Given the description of an element on the screen output the (x, y) to click on. 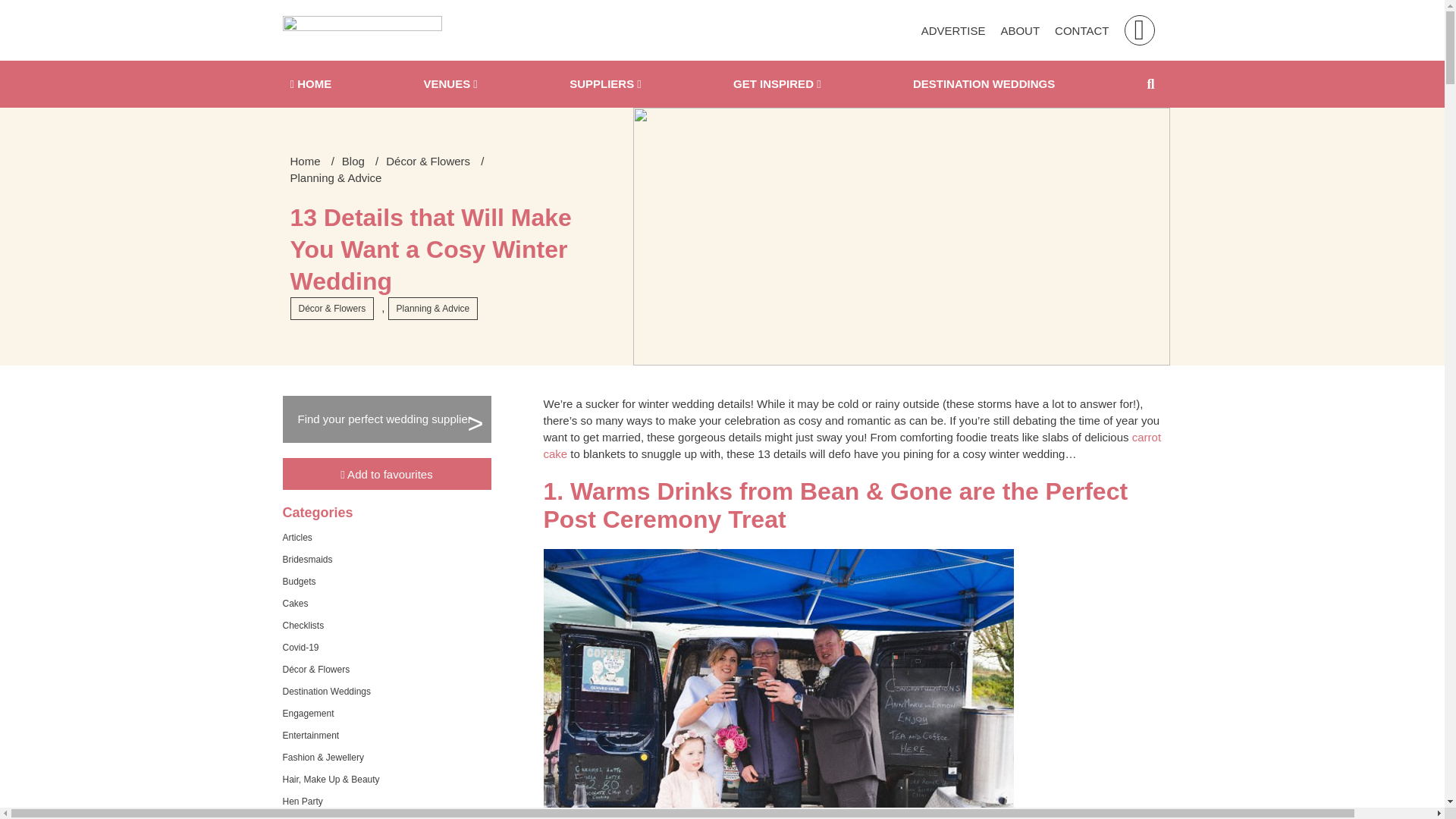
HOME (310, 83)
SUPPLIERS (605, 83)
CONTACT (1081, 30)
ABOUT (1019, 30)
VENUES (449, 83)
ADVERTISE (953, 30)
